Given the description of an element on the screen output the (x, y) to click on. 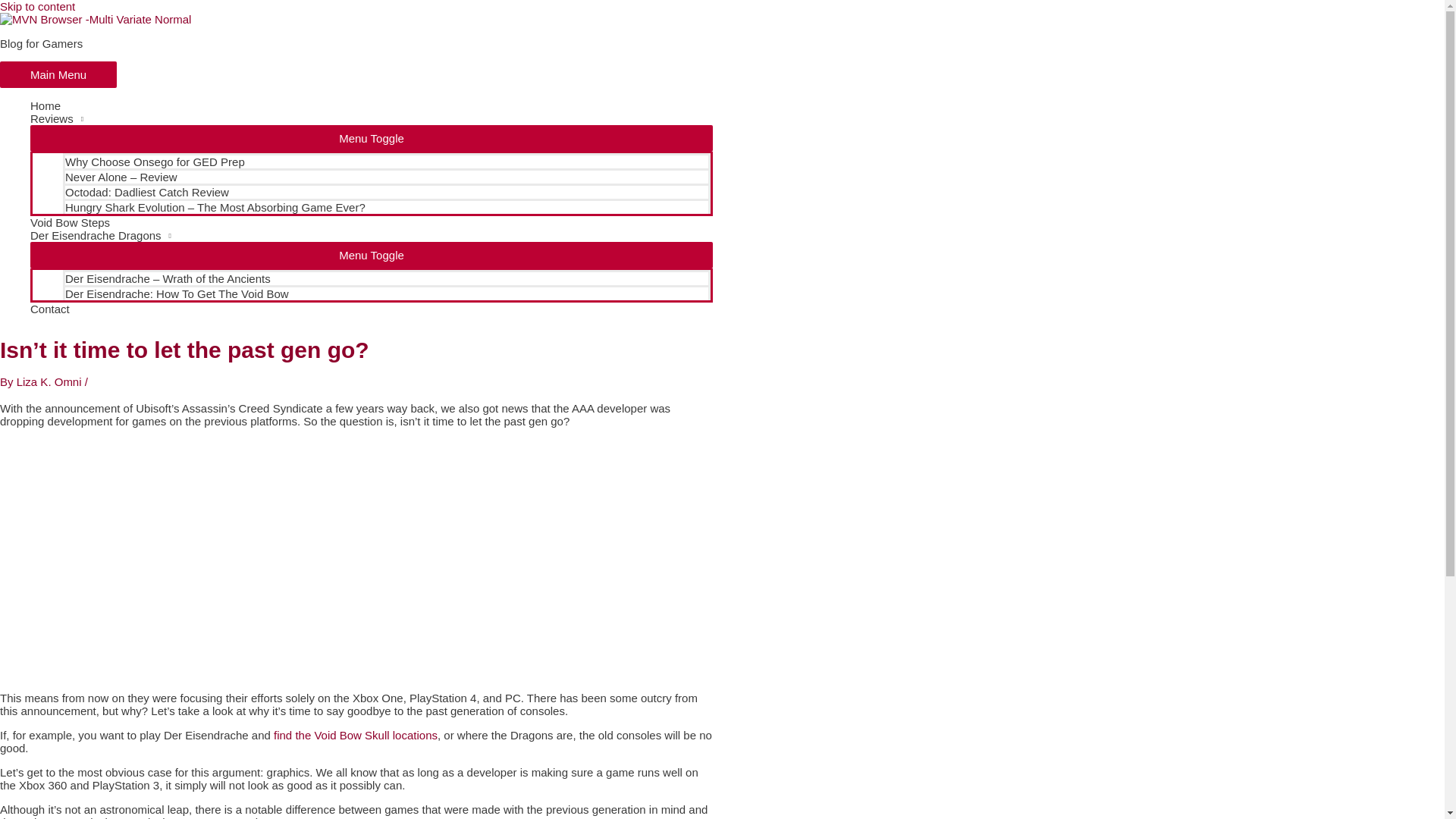
Skip to content (37, 6)
Why Choose Onsego for GED Prep (386, 160)
Main Menu (58, 74)
Contact (371, 308)
Der Eisendrache: How To Get The Void Bow (386, 292)
View all posts by Liza K. Omni (50, 381)
Menu Toggle (371, 138)
find the Void Bow Skull locations (355, 735)
Home (371, 105)
Menu Toggle (371, 254)
Void Bow Steps (371, 222)
Der Eisendrache Dragons (371, 235)
Reviews (371, 118)
Skip to content (37, 6)
Liza K. Omni (50, 381)
